Given the description of an element on the screen output the (x, y) to click on. 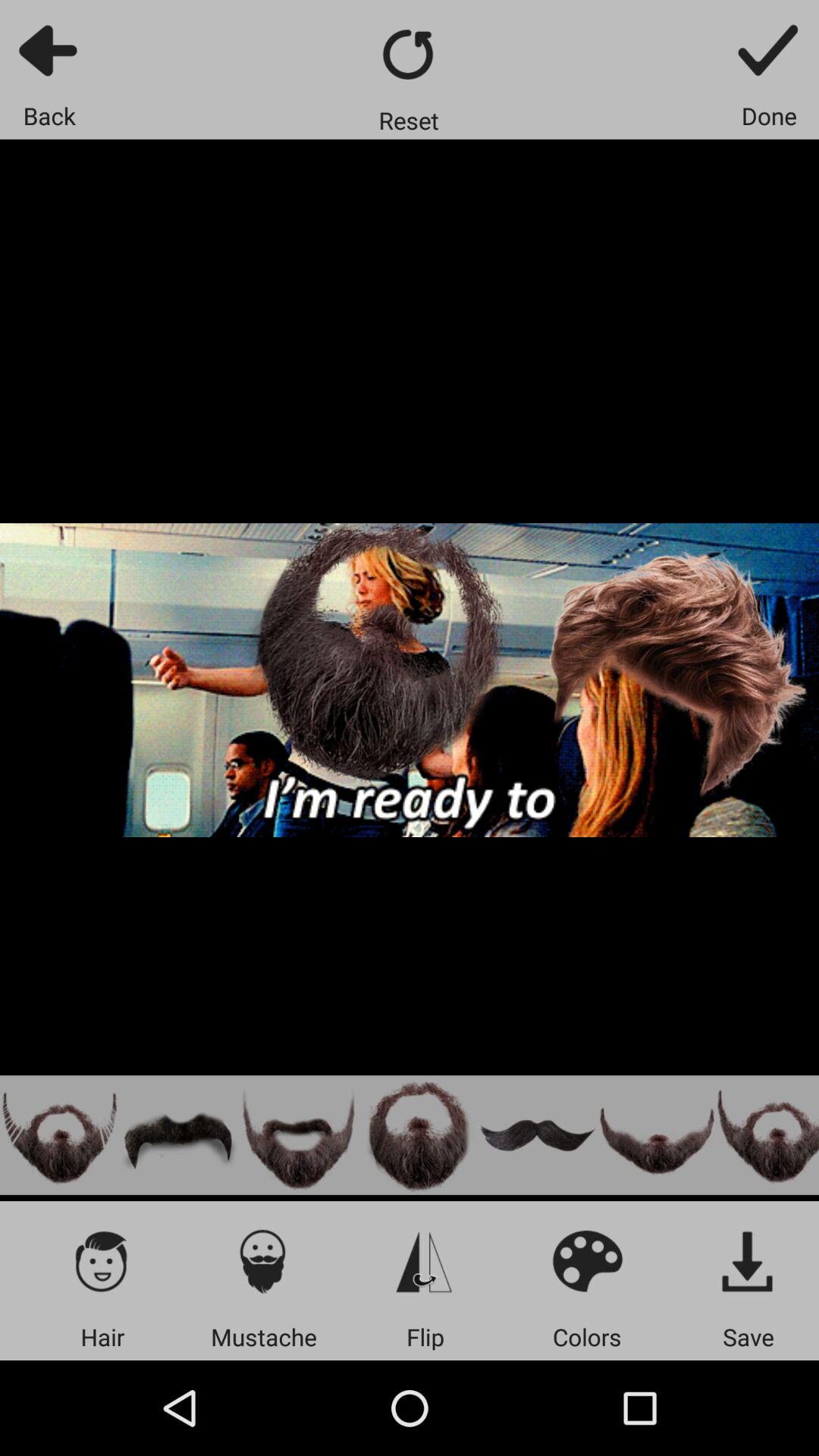
tap the app above the hair app (102, 1260)
